Given the description of an element on the screen output the (x, y) to click on. 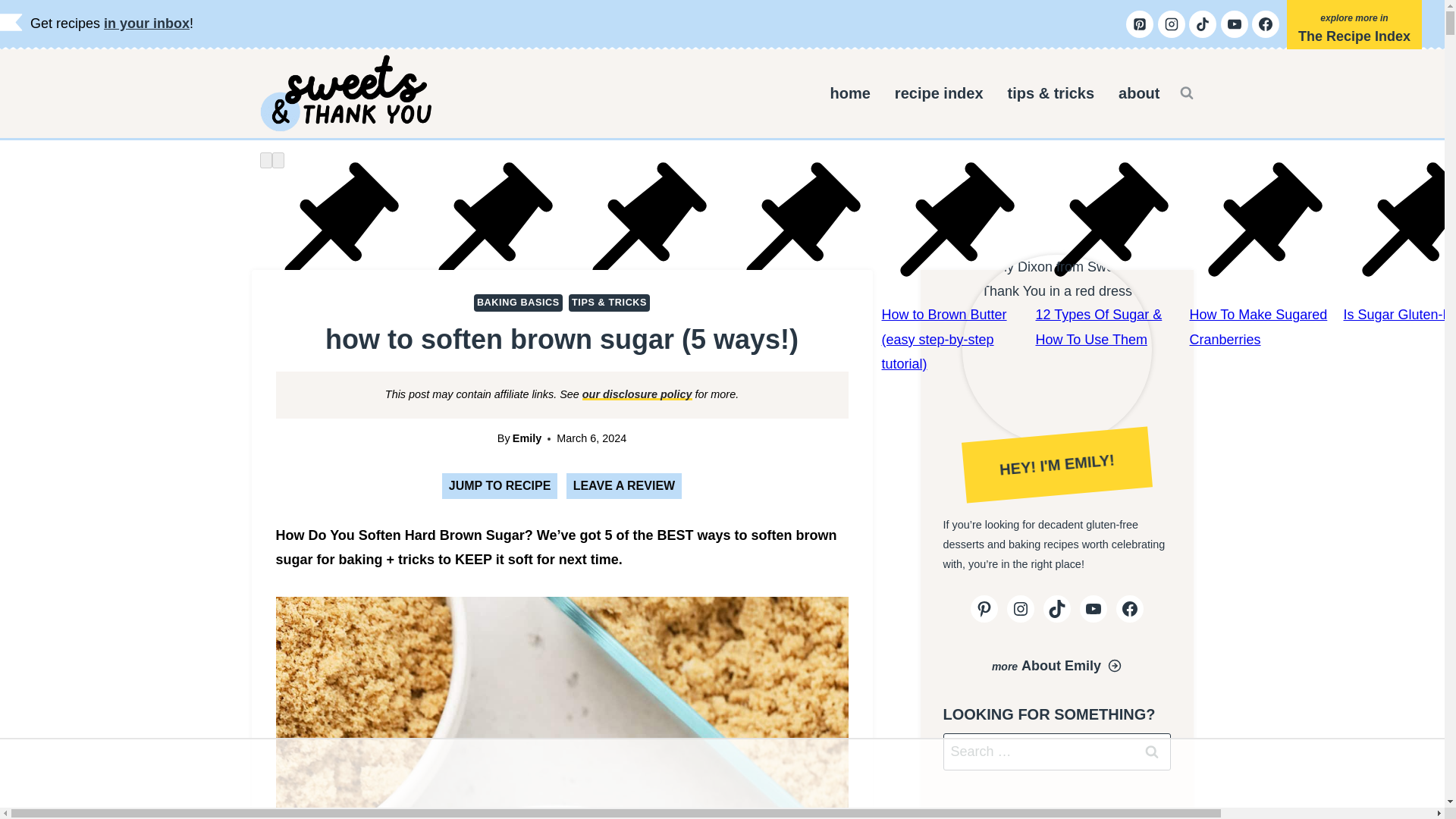
our disclosure policy (637, 394)
JUMP TO RECIPE (499, 485)
in your inbox (146, 23)
Emily (526, 438)
3rd party ad content (722, 773)
Search (1151, 751)
The Recipe Index (1354, 29)
recipe index (938, 93)
BAKING BASICS (518, 303)
JUMP TO RECIPE (499, 485)
Search (1151, 751)
LEAVE A REVIEW (624, 485)
about (1139, 93)
home (850, 93)
LEAVE A REVIEW (624, 485)
